Given the description of an element on the screen output the (x, y) to click on. 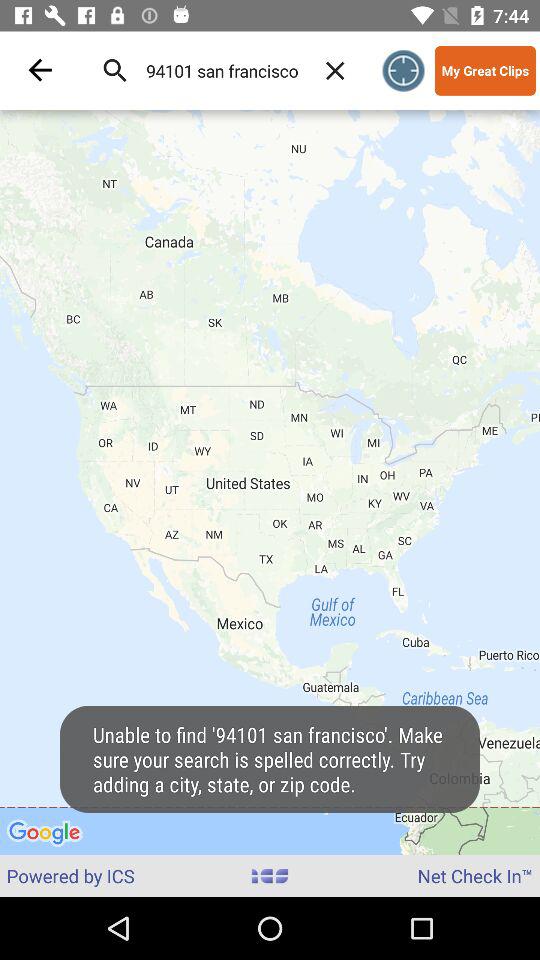
turn off item next to the 94101 san francisco (335, 70)
